Given the description of an element on the screen output the (x, y) to click on. 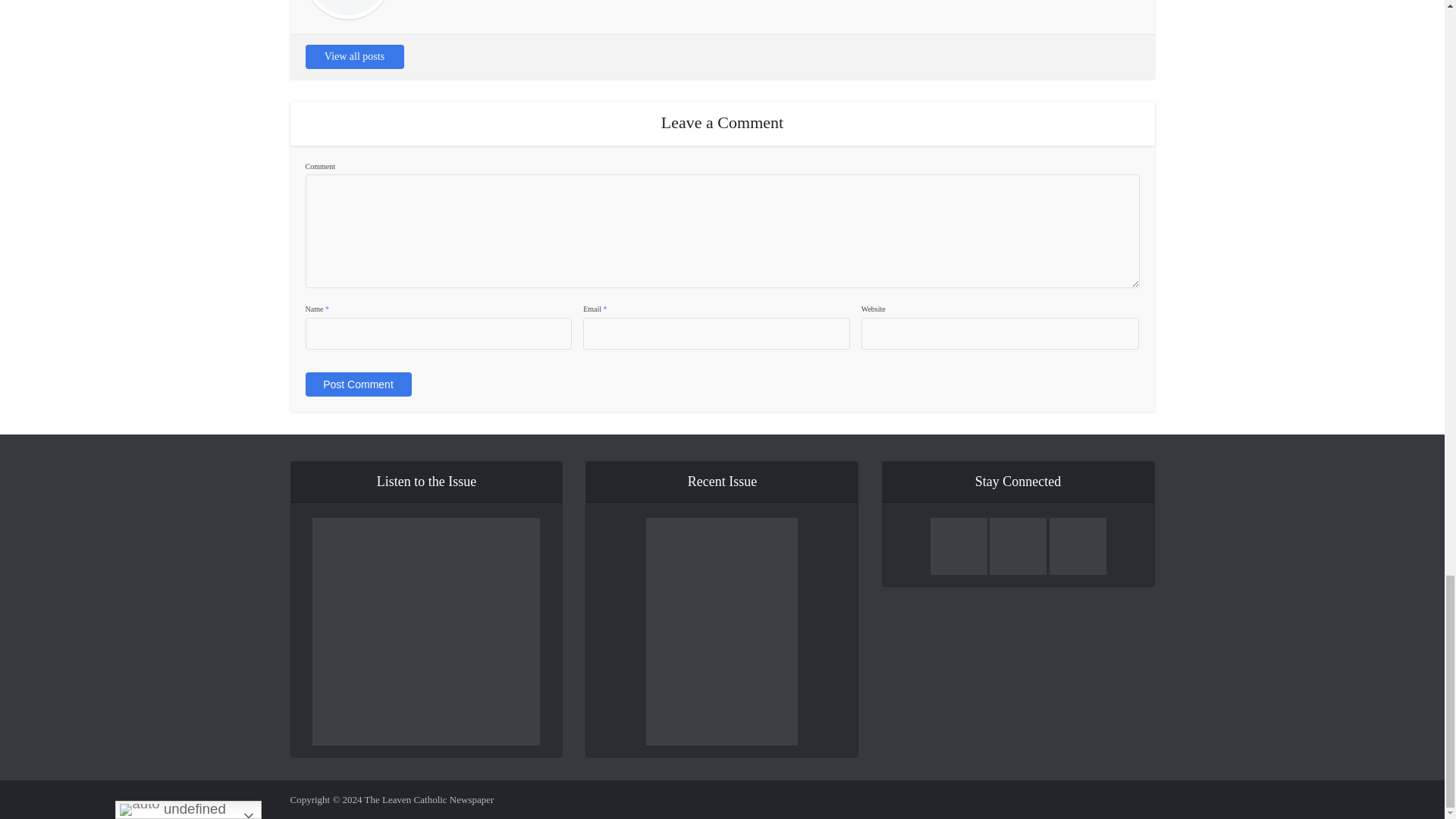
Post Comment (357, 384)
